Given the description of an element on the screen output the (x, y) to click on. 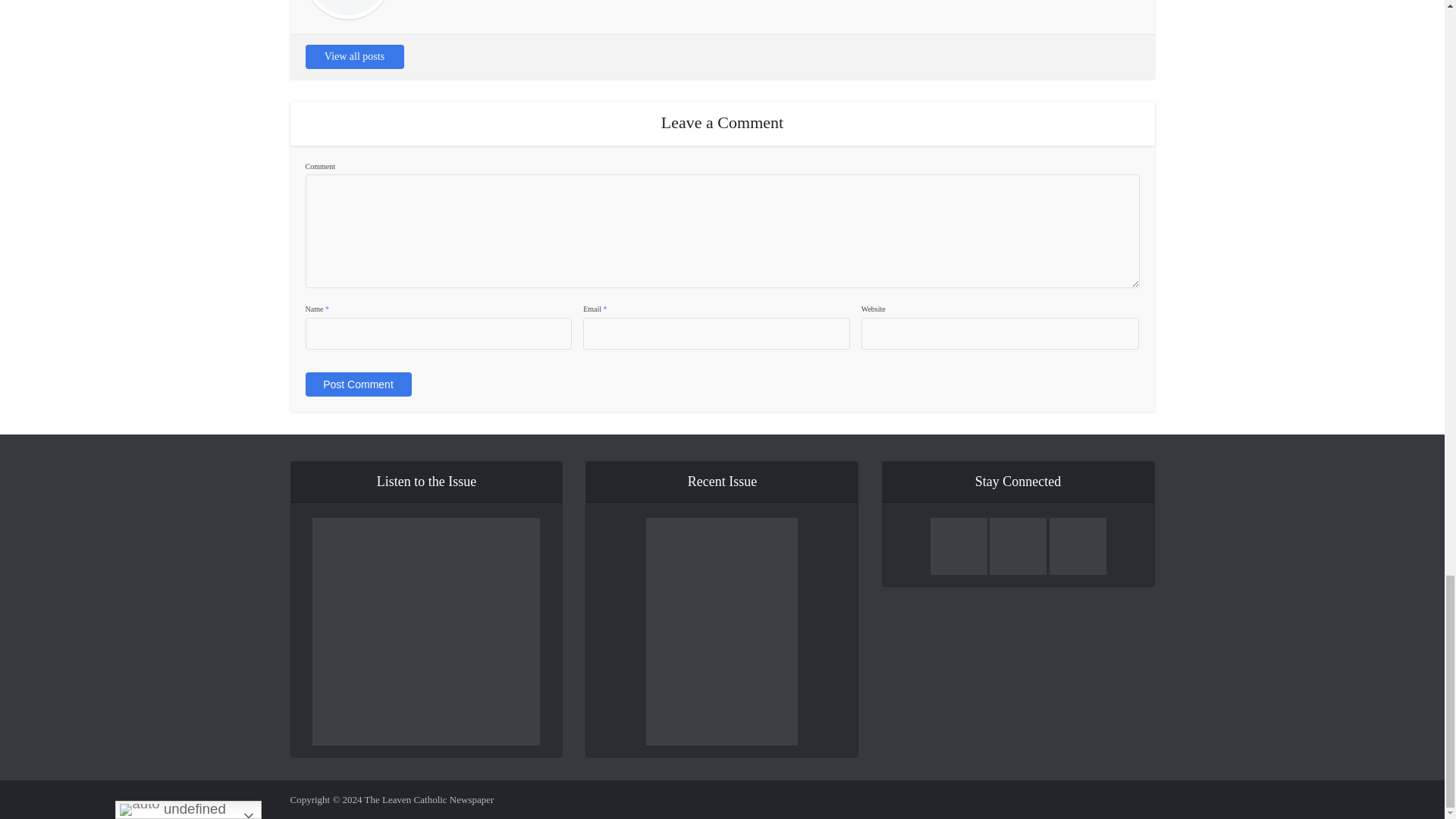
Post Comment (357, 384)
